Given the description of an element on the screen output the (x, y) to click on. 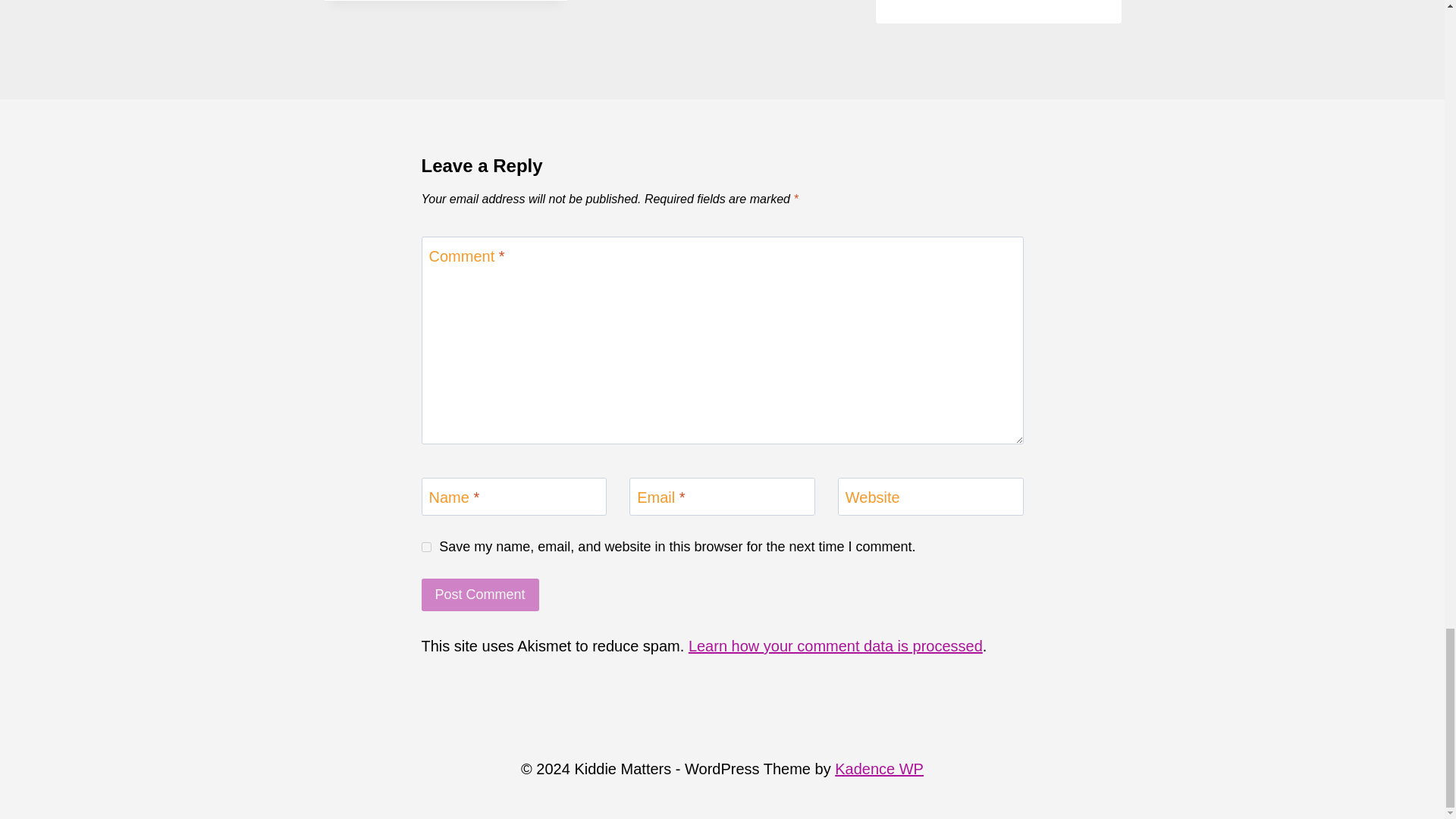
yes (426, 547)
Post Comment (480, 594)
